Given the description of an element on the screen output the (x, y) to click on. 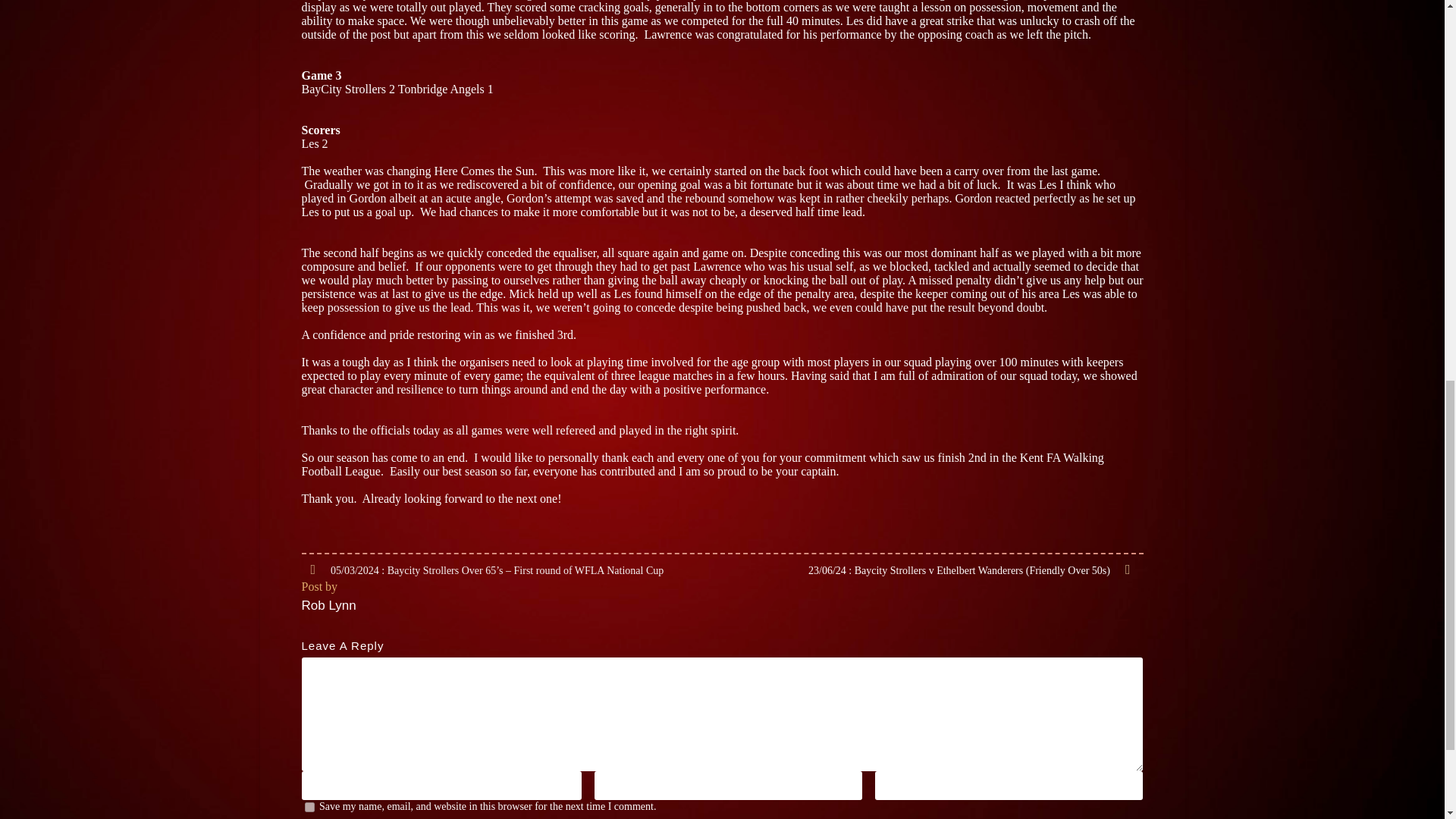
Posts by Rob Lynn (328, 605)
yes (309, 807)
